Given the description of an element on the screen output the (x, y) to click on. 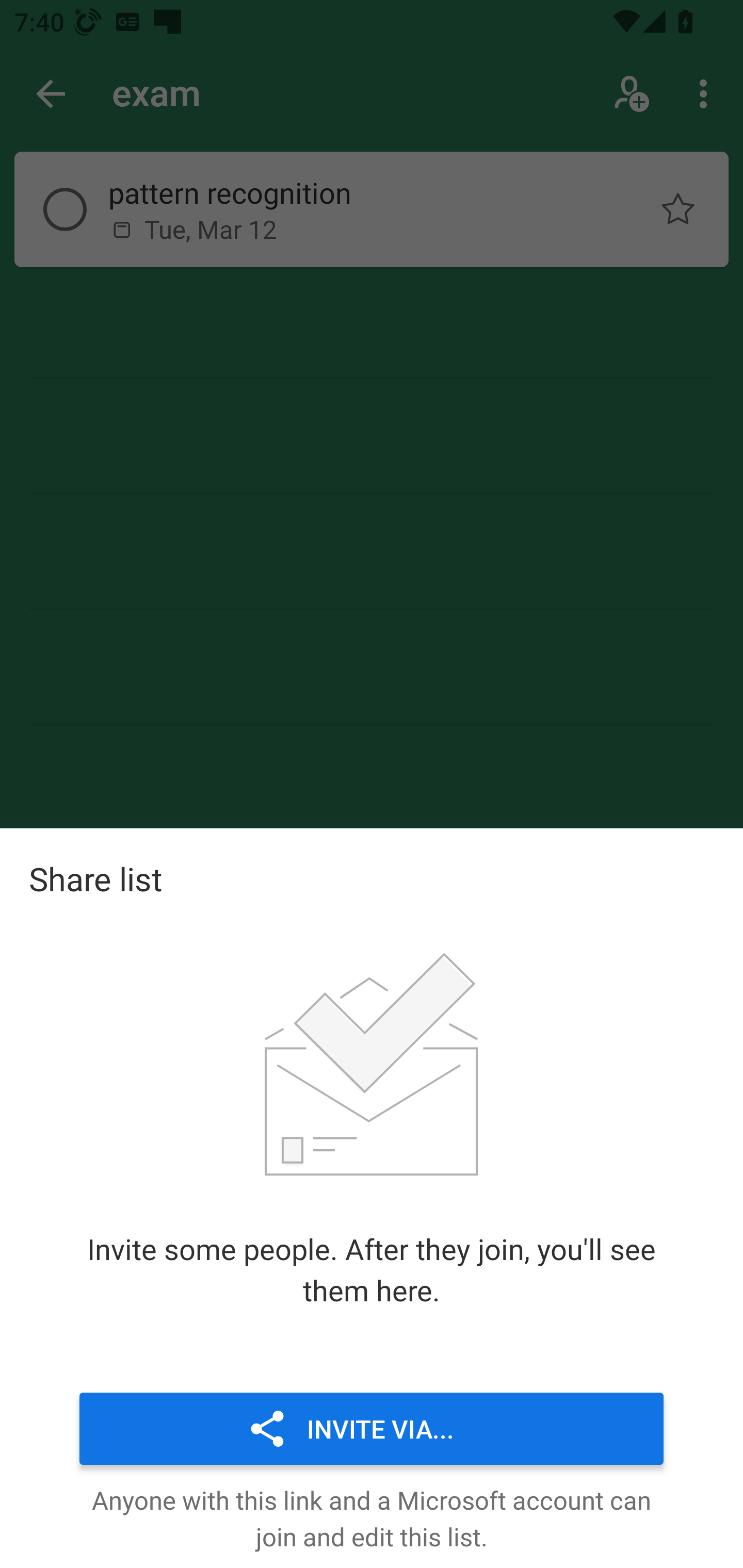
INVITE VIA... (371, 1428)
